Given the description of an element on the screen output the (x, y) to click on. 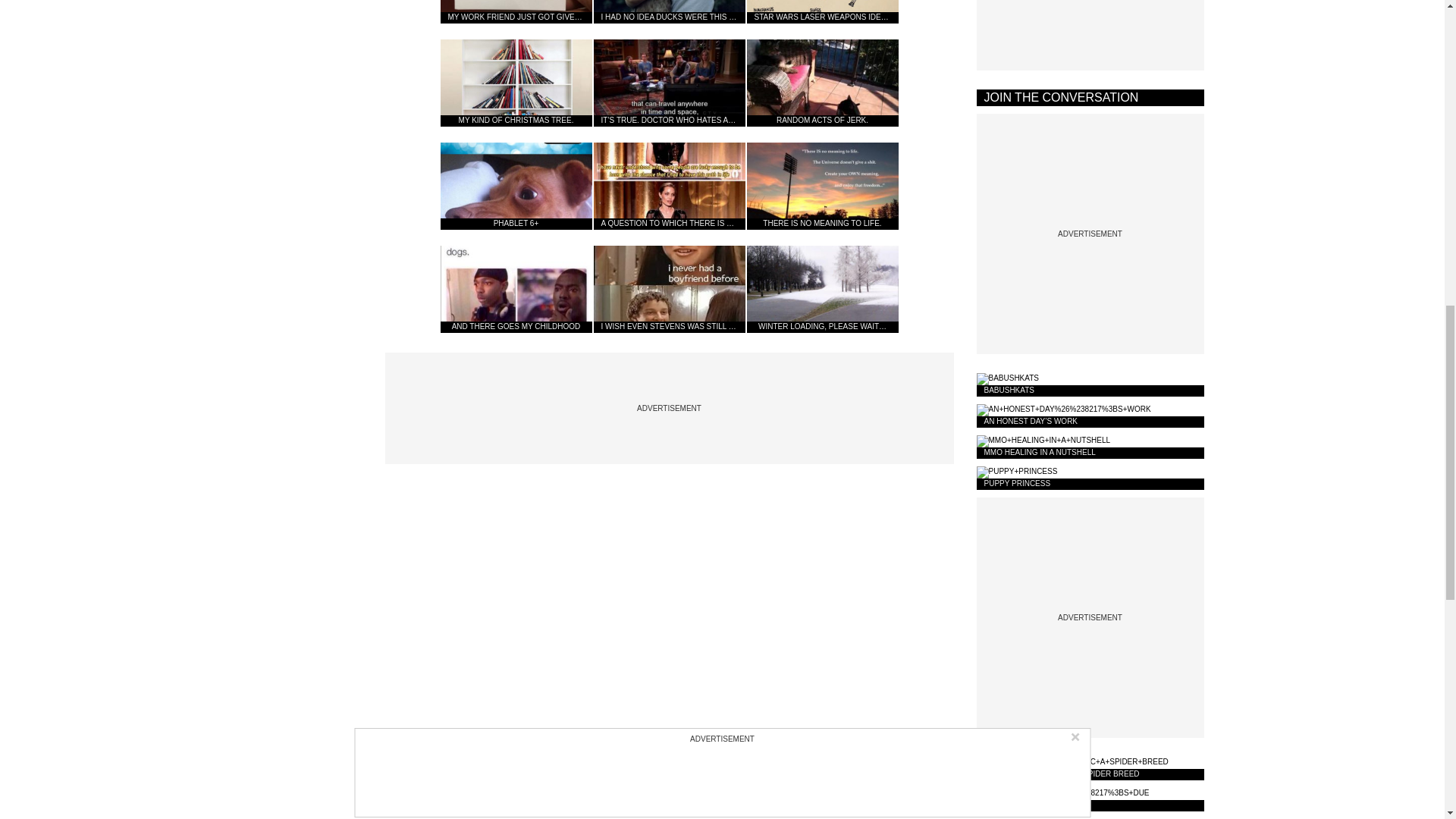
MY WORK FRIEND JUST GOT GIVEN ONE OF THESE (515, 11)
STAR WARS LASER WEAPONS IDEAS (821, 11)
I HAD NO IDEA DUCKS WERE THIS HUGGABLE. (668, 11)
MY KIND OF CHRISTMAS TREE. (515, 99)
